Given the description of an element on the screen output the (x, y) to click on. 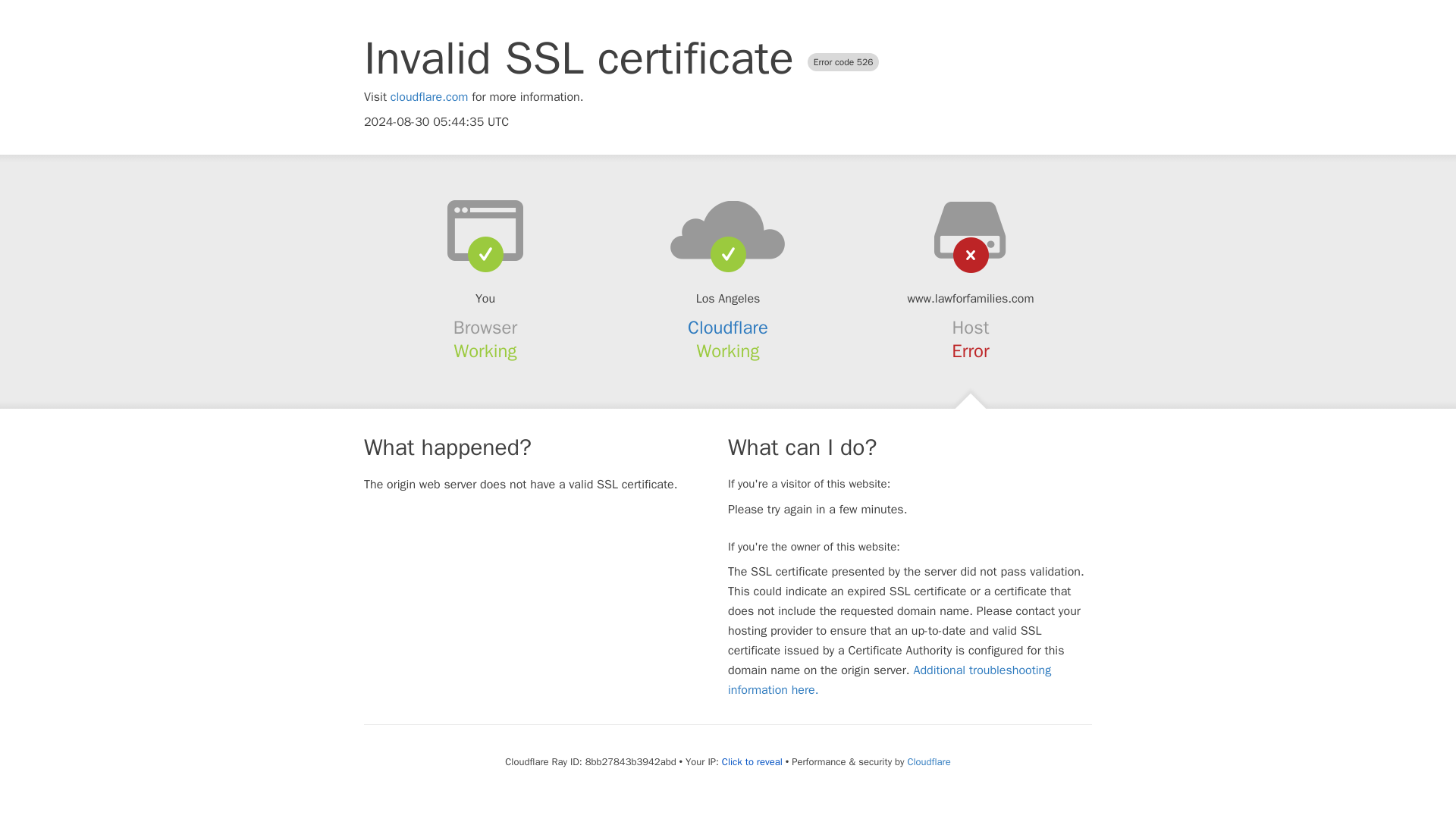
Click to reveal (752, 762)
Cloudflare (727, 327)
cloudflare.com (429, 96)
Additional troubleshooting information here. (889, 679)
Cloudflare (928, 761)
